Given the description of an element on the screen output the (x, y) to click on. 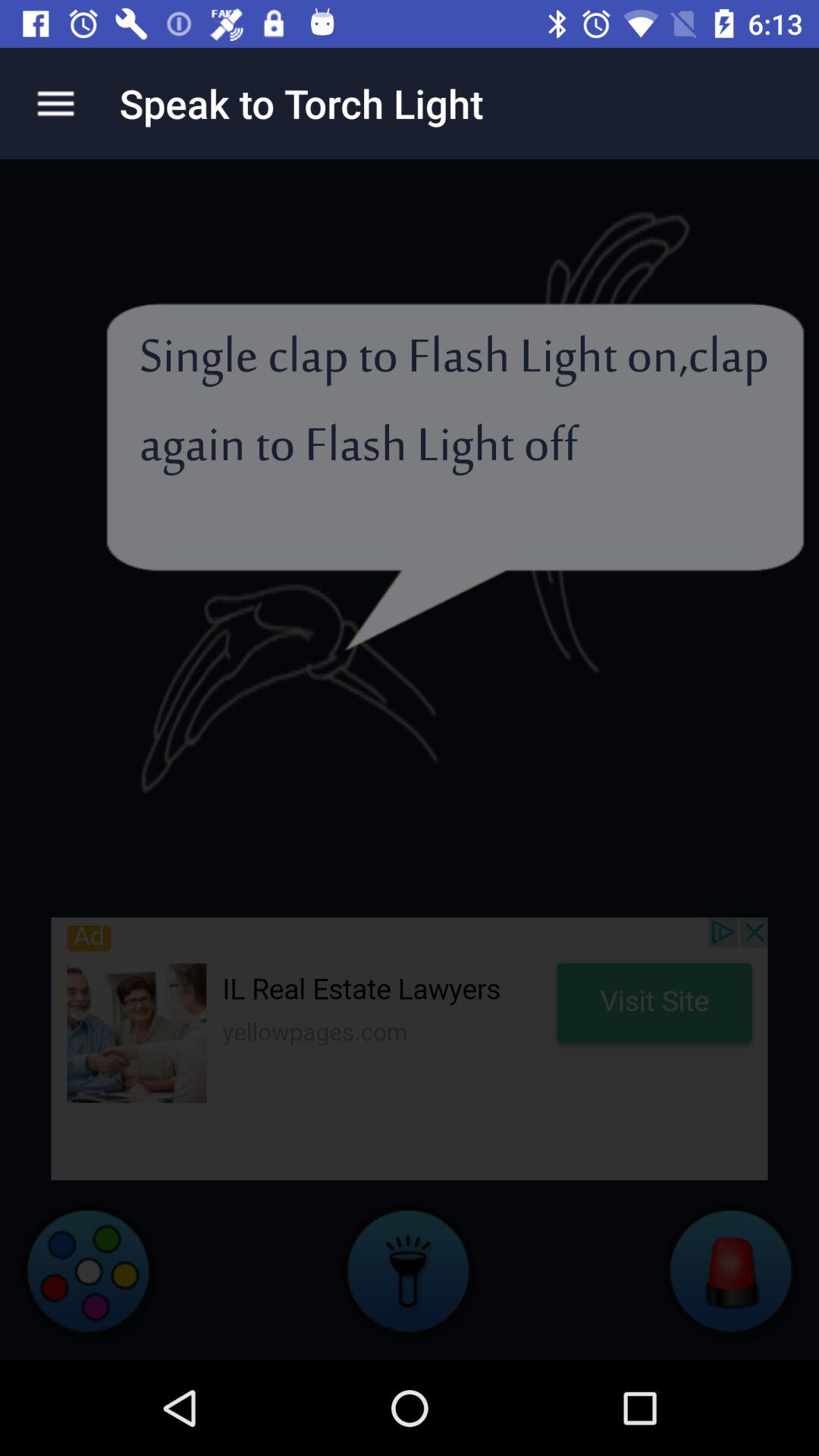
menu list (55, 103)
